Given the description of an element on the screen output the (x, y) to click on. 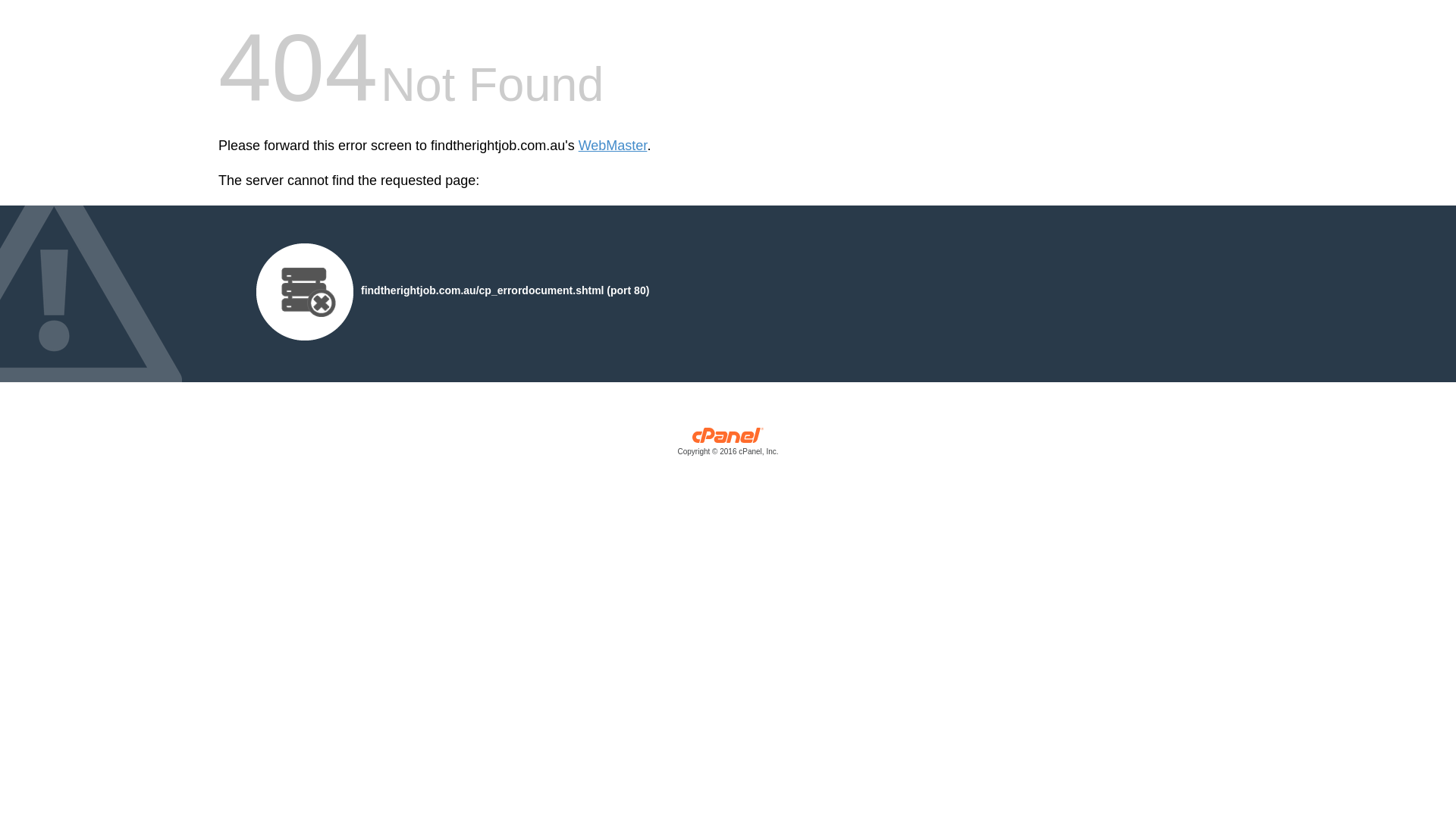
WebMaster Element type: text (612, 145)
